Given the description of an element on the screen output the (x, y) to click on. 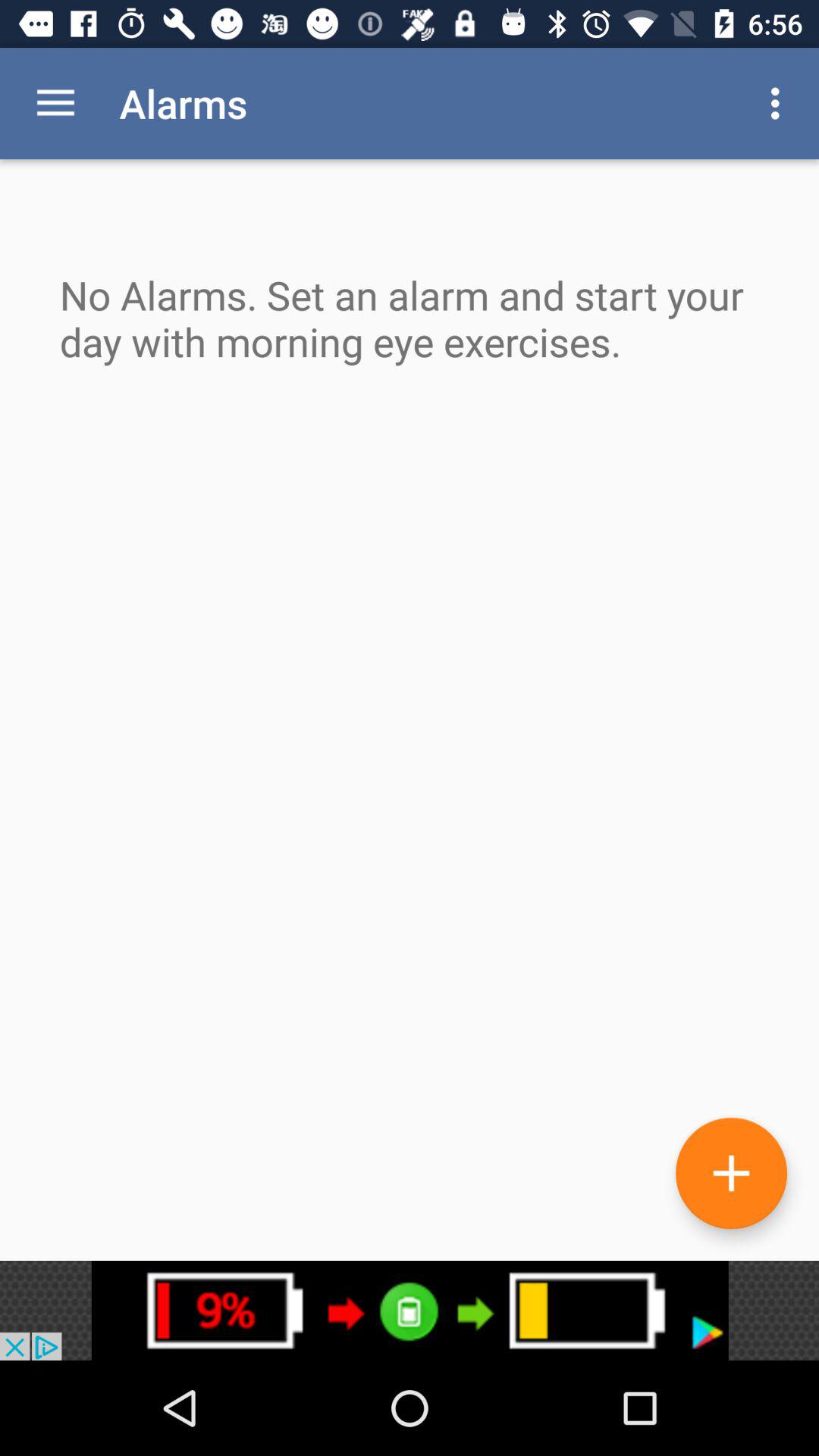
add new alarm (731, 1173)
